Given the description of an element on the screen output the (x, y) to click on. 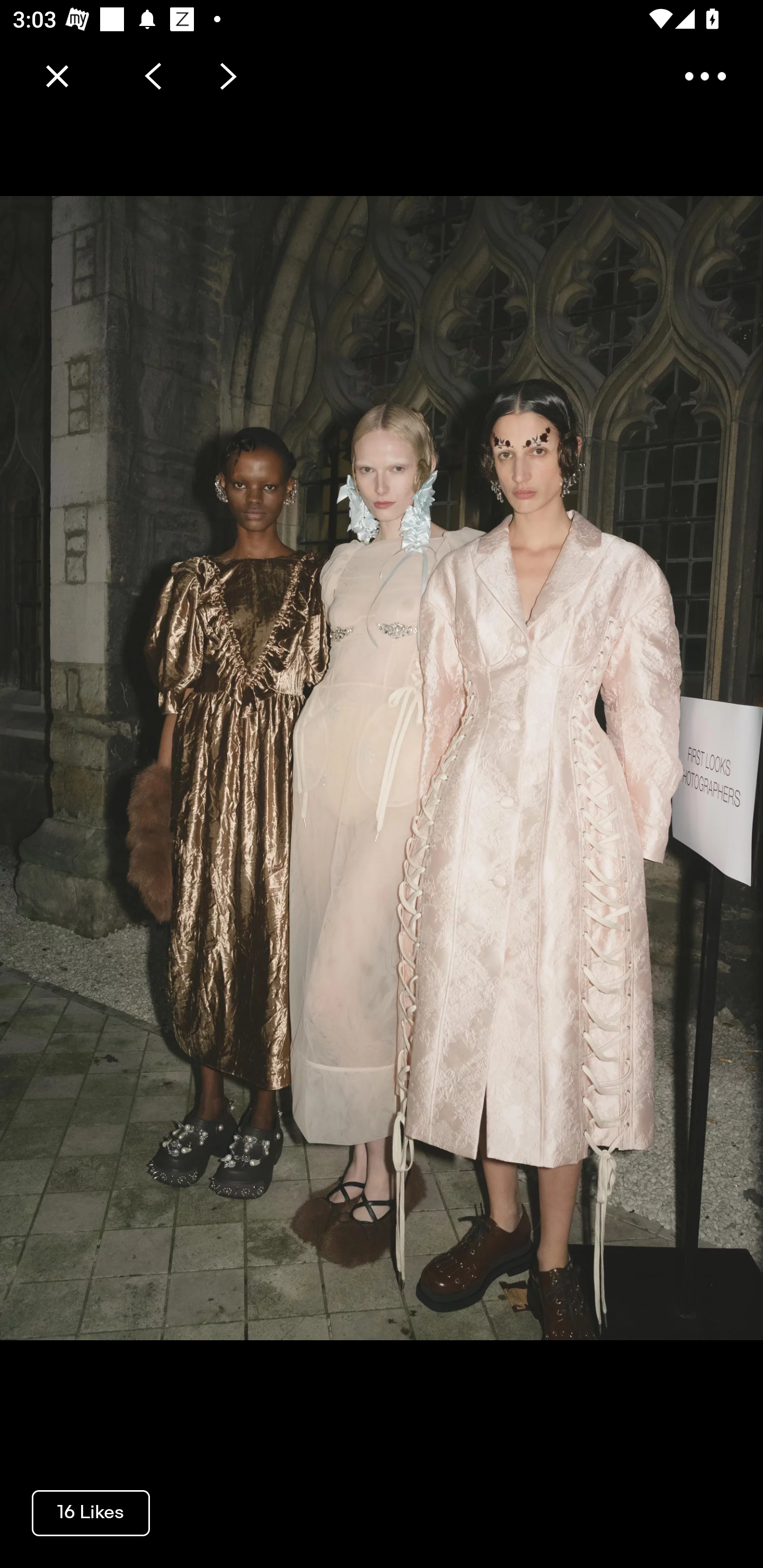
16 Likes (91, 1512)
